Given the description of an element on the screen output the (x, y) to click on. 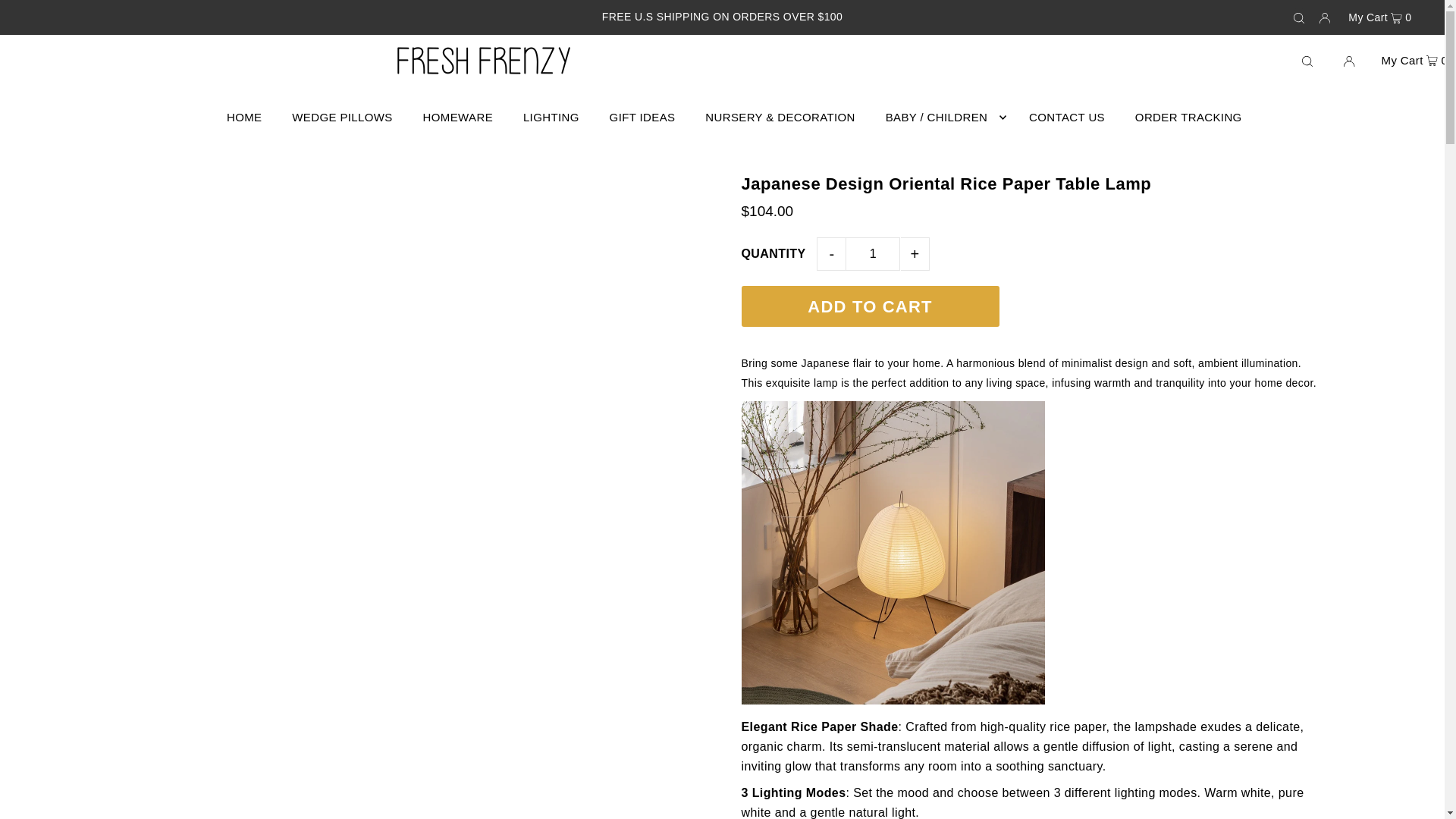
1 (872, 254)
GIFT IDEAS (642, 117)
LIGHTING (550, 117)
HOMEWARE (457, 117)
HOME (244, 117)
WEDGE PILLOWS (340, 117)
Add to Cart (869, 305)
